Given the description of an element on the screen output the (x, y) to click on. 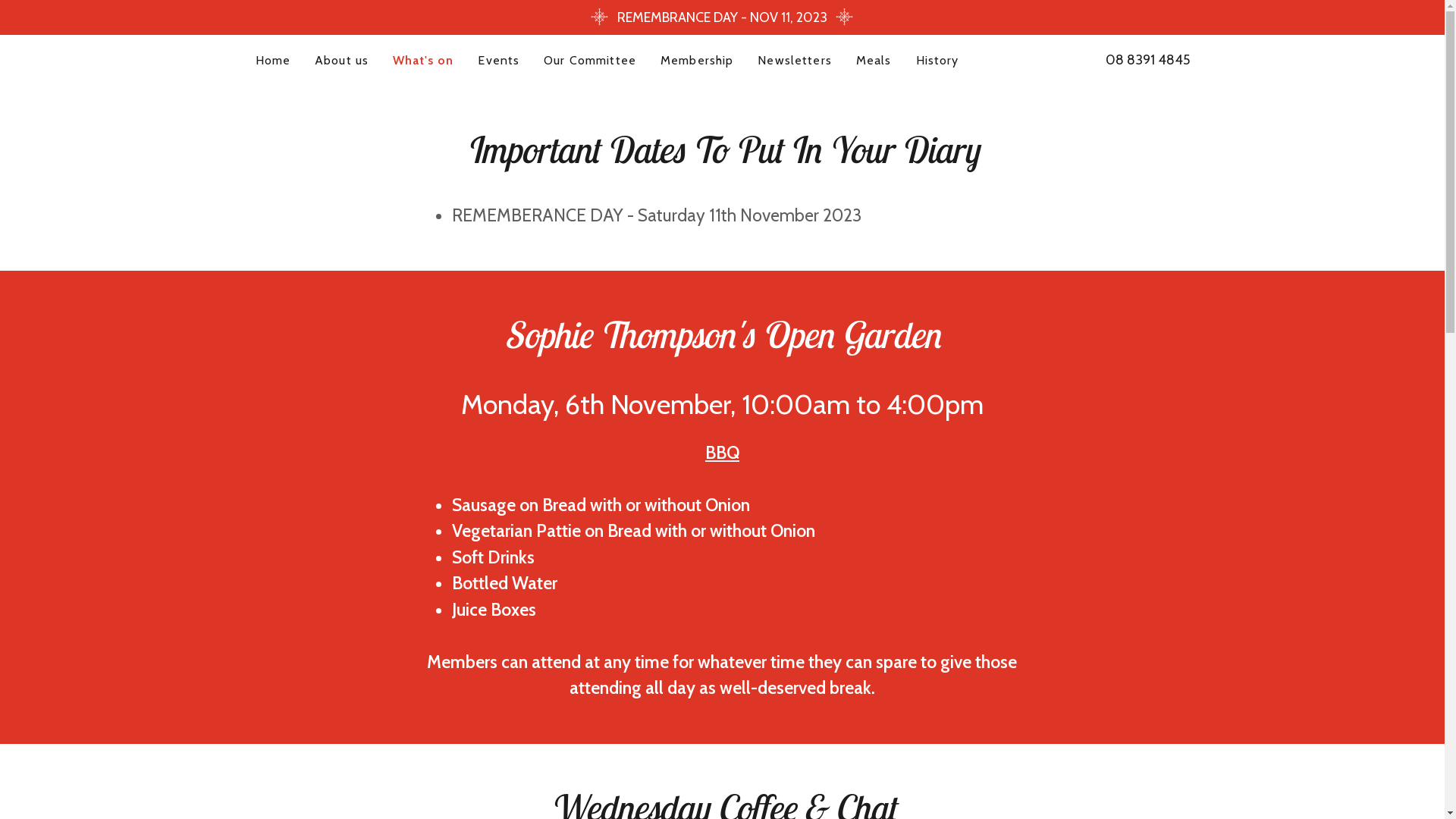
What's on Element type: text (422, 60)
Our Committee Element type: text (589, 60)
Events Element type: text (498, 60)
Newsletters Element type: text (794, 60)
Home Element type: text (272, 60)
Membership Element type: text (696, 60)
About us Element type: text (341, 60)
Meals Element type: text (873, 60)
History Element type: text (937, 60)
08 8391 4845 Element type: text (1147, 59)
